Given the description of an element on the screen output the (x, y) to click on. 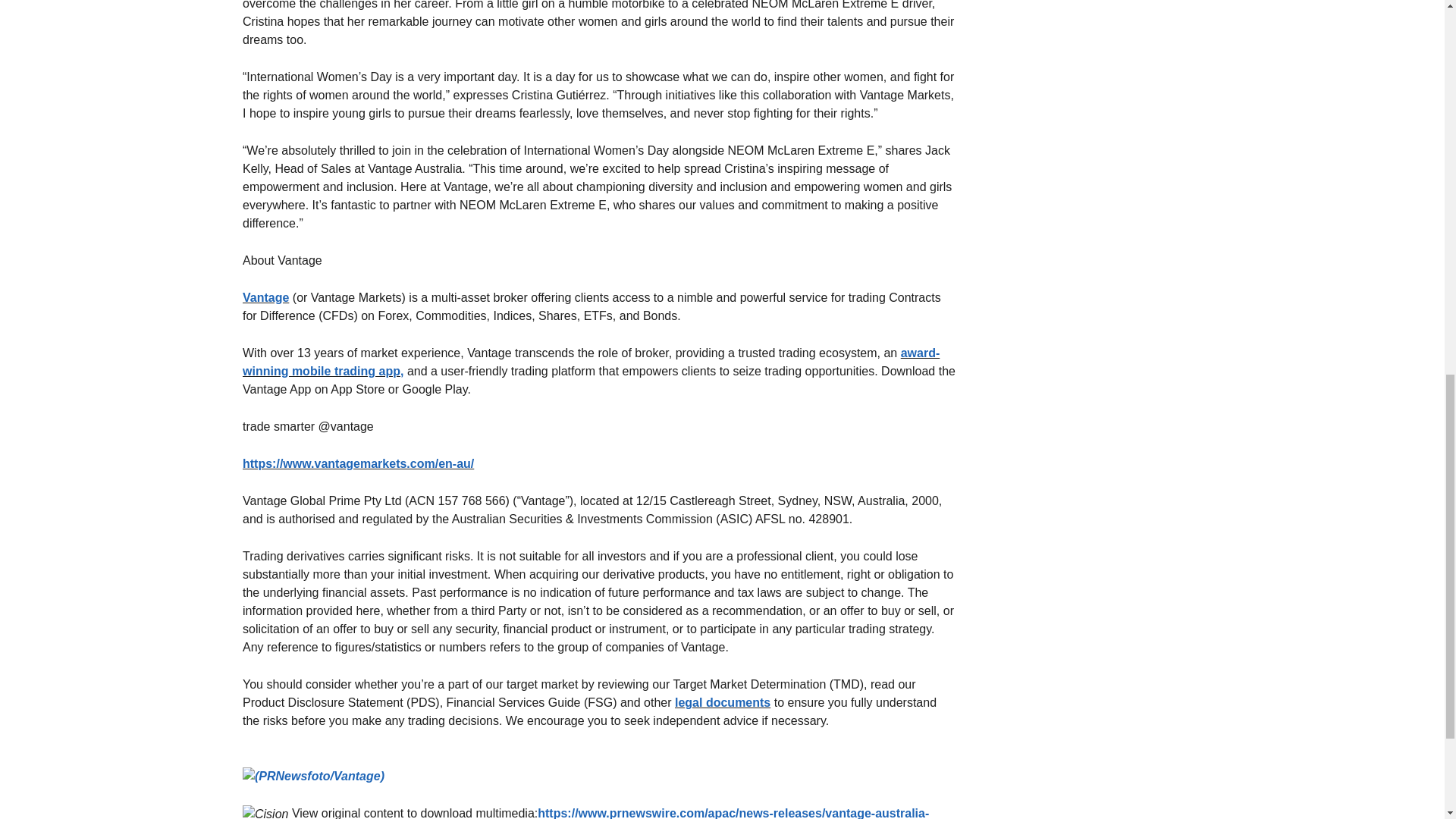
Cision (265, 812)
